Given the description of an element on the screen output the (x, y) to click on. 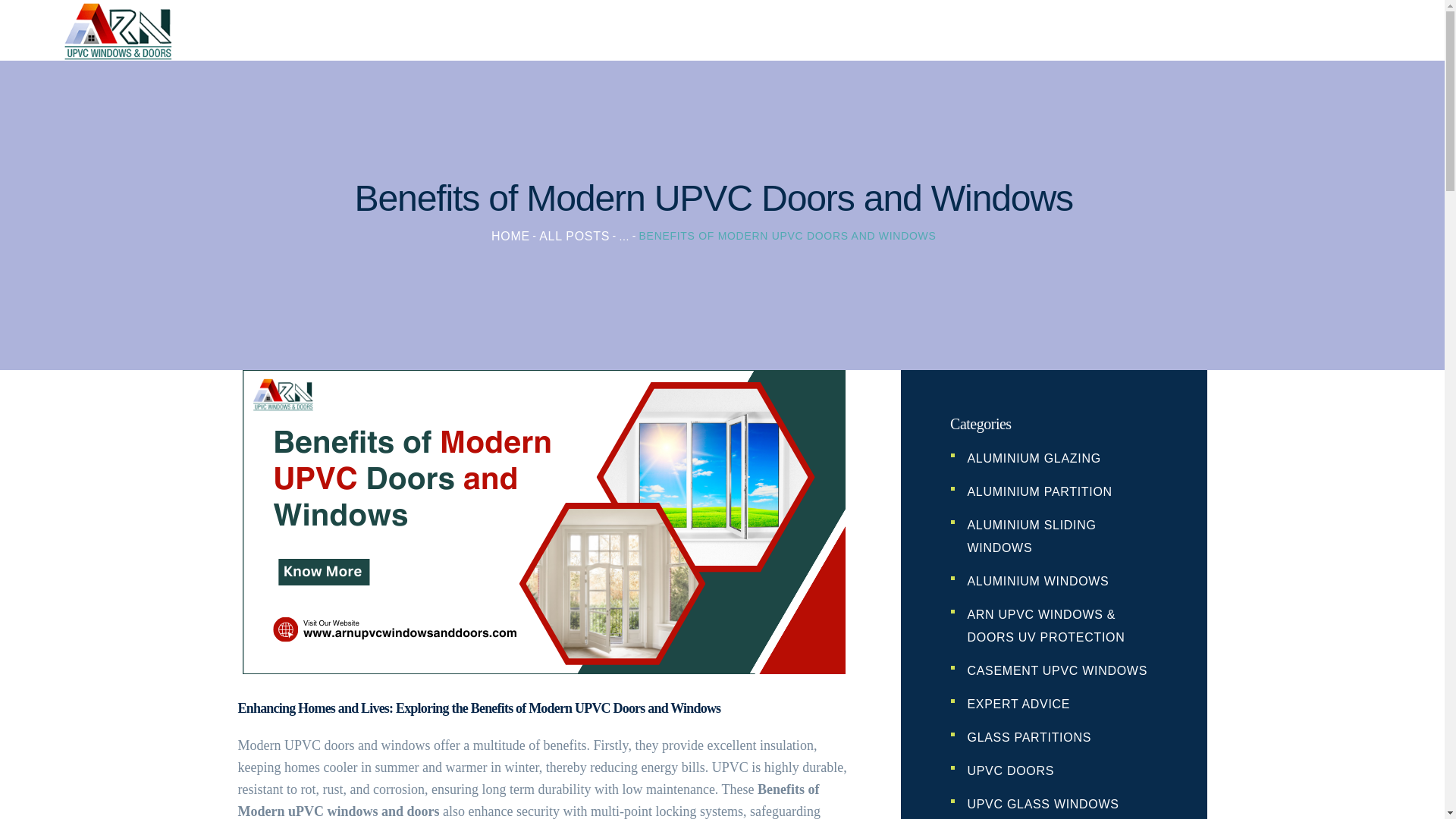
ALL POSTS (574, 236)
HOME (510, 236)
